Given the description of an element on the screen output the (x, y) to click on. 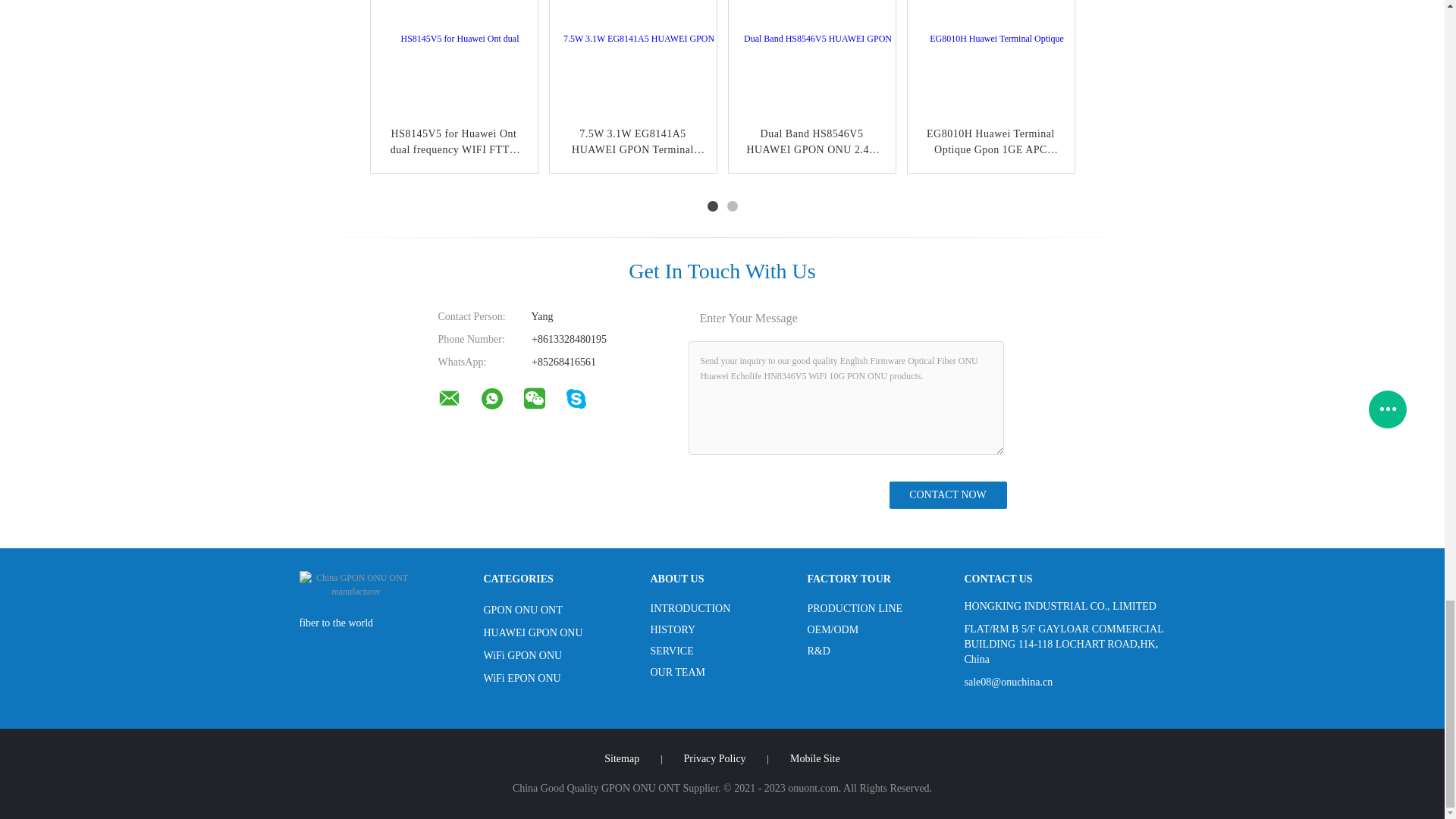
Contact Now (947, 494)
